Given the description of an element on the screen output the (x, y) to click on. 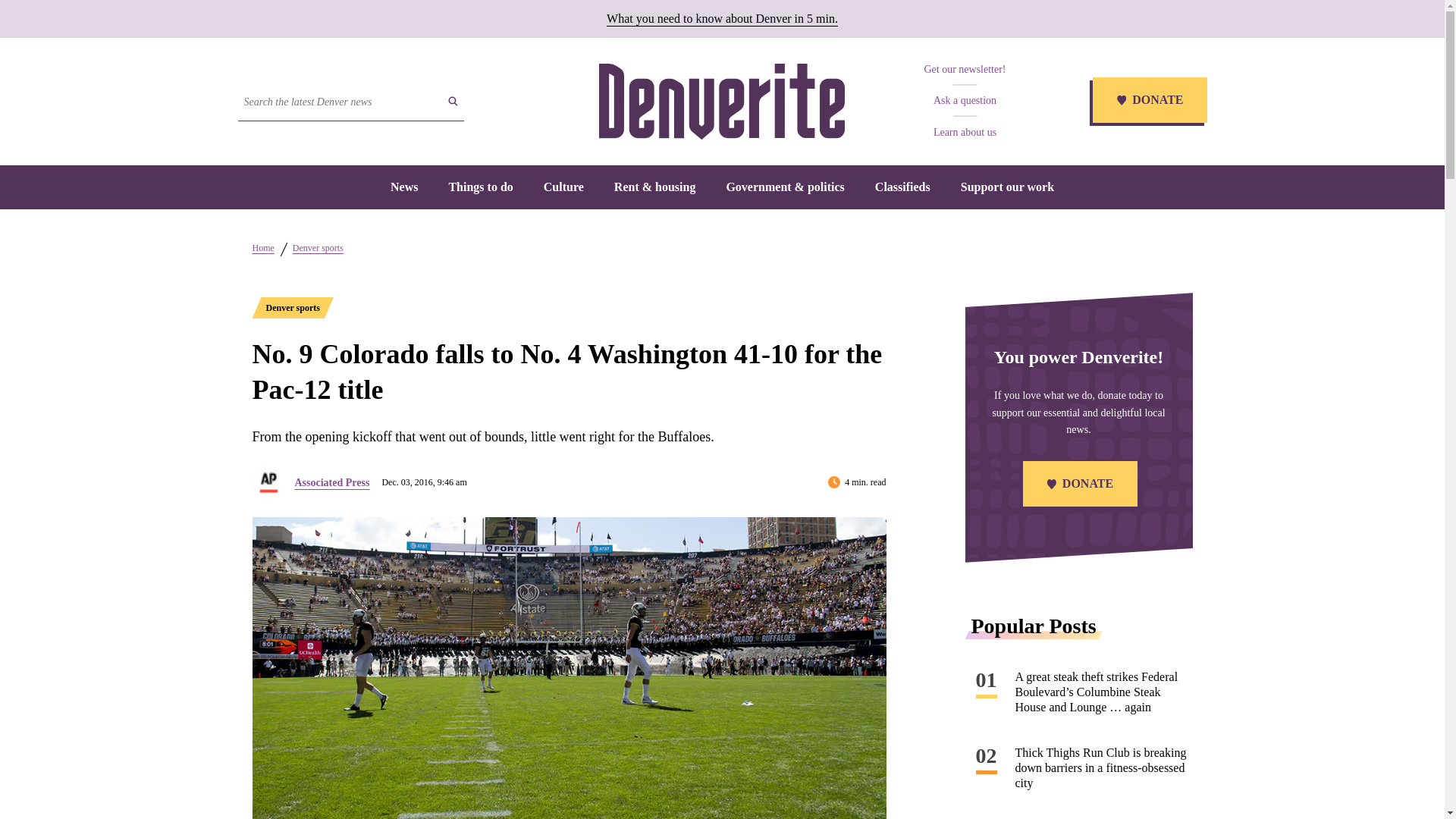
Associated Press (331, 482)
Home (262, 247)
Denver sports (317, 247)
Support our work (1007, 186)
Learn about us (964, 132)
Denverite (721, 101)
Ask a question (964, 100)
News (403, 186)
What you need to know about Denver in 5 min. (722, 18)
